Given the description of an element on the screen output the (x, y) to click on. 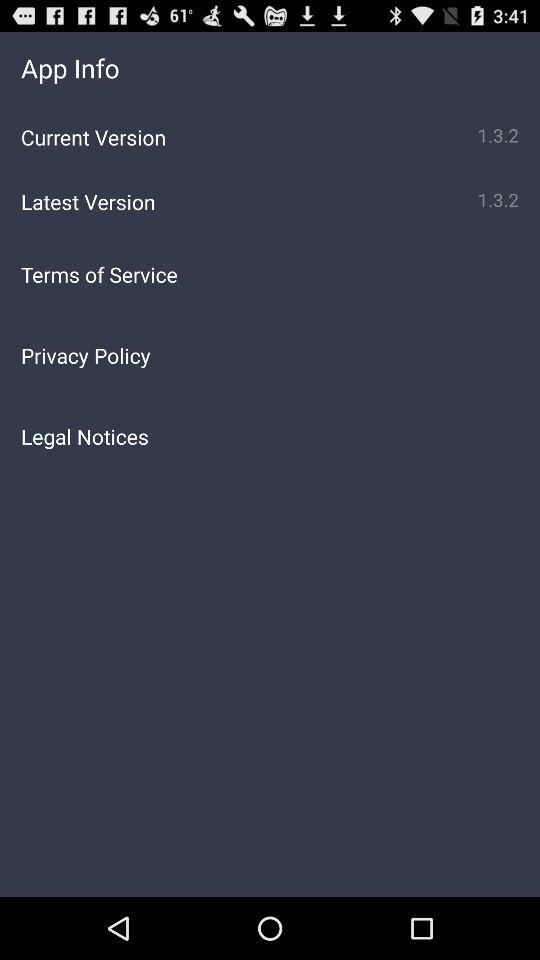
press app below terms of service (270, 355)
